Given the description of an element on the screen output the (x, y) to click on. 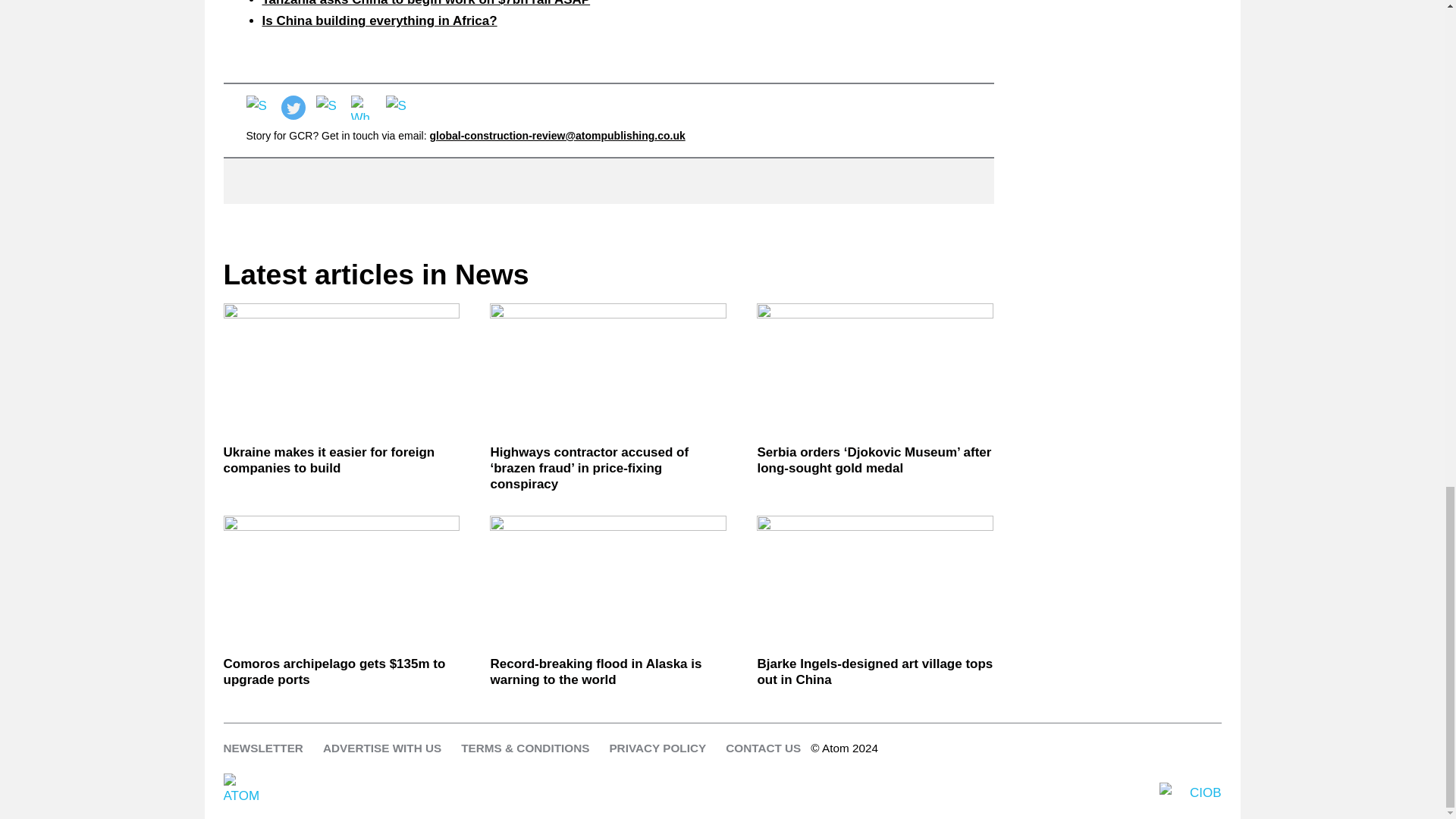
Ukraine makes it easier for foreign companies to build (341, 460)
Share on WhatsApp (362, 107)
Tweet (292, 107)
Share on Facebook (257, 107)
Ukraine makes it easier for foreign companies to build (341, 369)
Share on LinkedIn (327, 107)
Send email (397, 107)
